Given the description of an element on the screen output the (x, y) to click on. 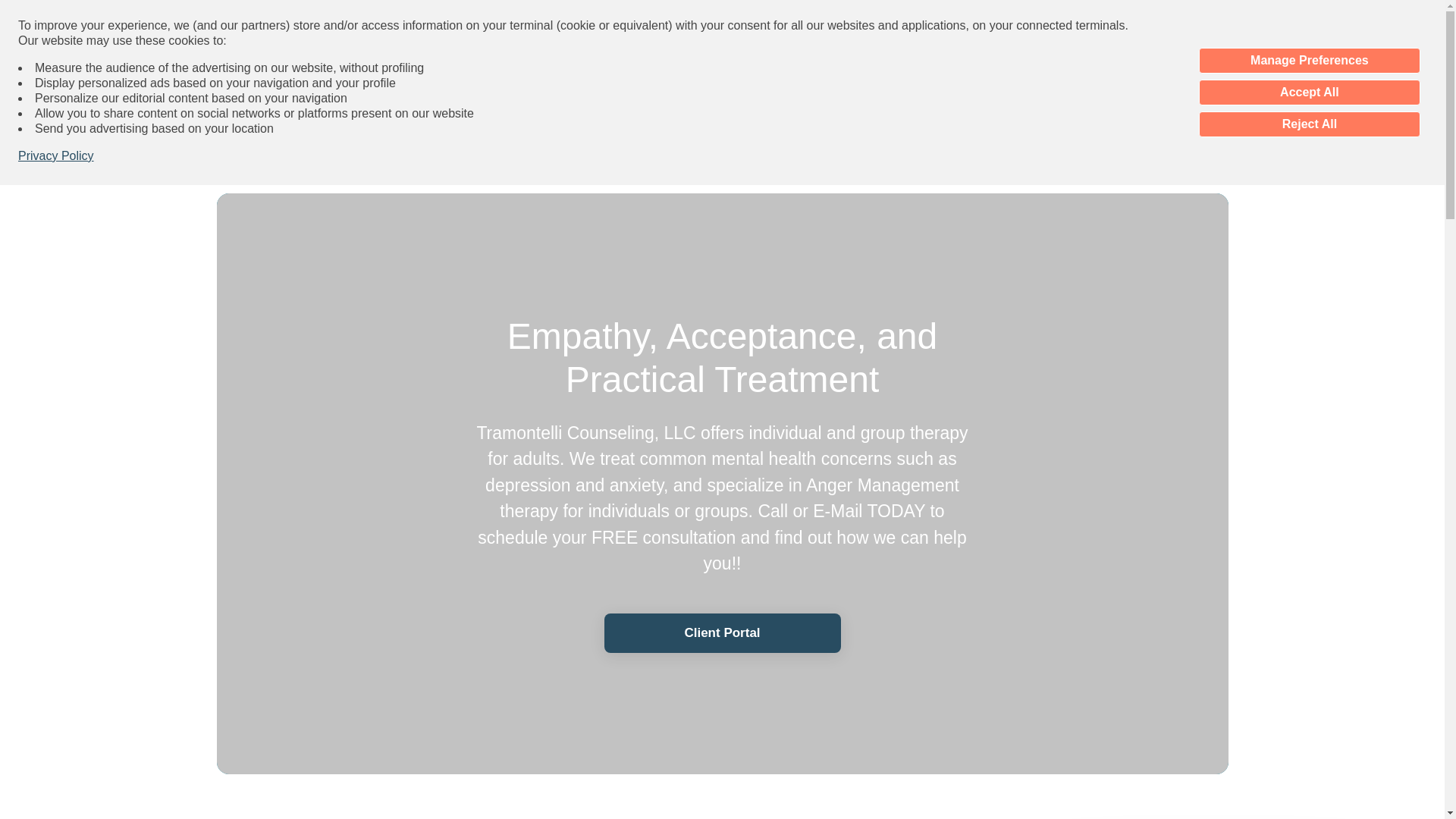
Services (746, 146)
Contact (821, 90)
Manage Preferences (1309, 60)
732.784.7015 (727, 90)
Client Portal (722, 632)
Location (822, 146)
About (676, 146)
Reject All (1309, 124)
Accept All (1309, 92)
Home (614, 146)
